Given the description of an element on the screen output the (x, y) to click on. 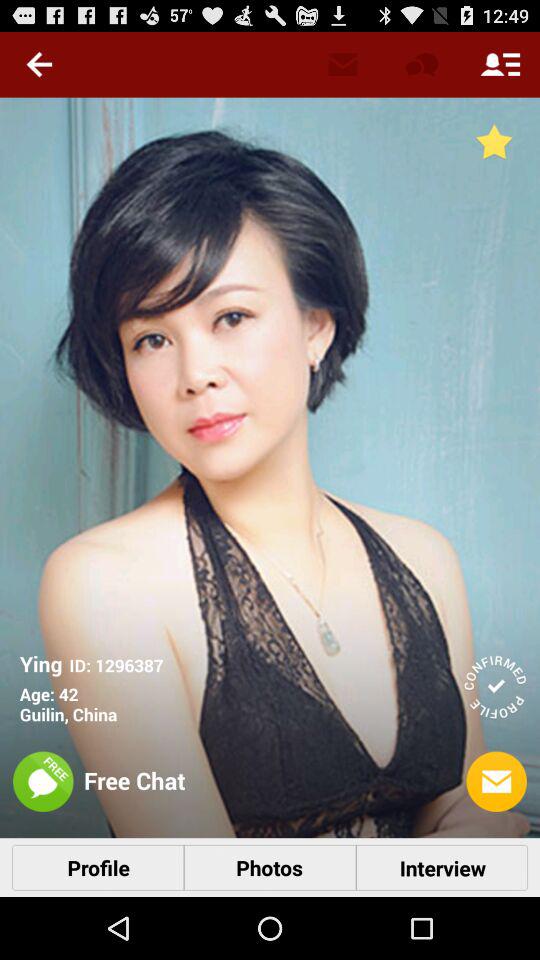
select the message icon (497, 781)
click on the confirmed profile option (495, 686)
select the icon in the top right corner (500, 63)
select the chat icon at the top of the page (421, 63)
select the message icon which is left to the chat icon (342, 63)
click on the star icon on the top right corner (494, 141)
click on your menu icon next to messaging icon (500, 63)
click on the letter icon in the bottom left corner (497, 781)
click on the letter icon in the bottom right corner (497, 781)
